Given the description of an element on the screen output the (x, y) to click on. 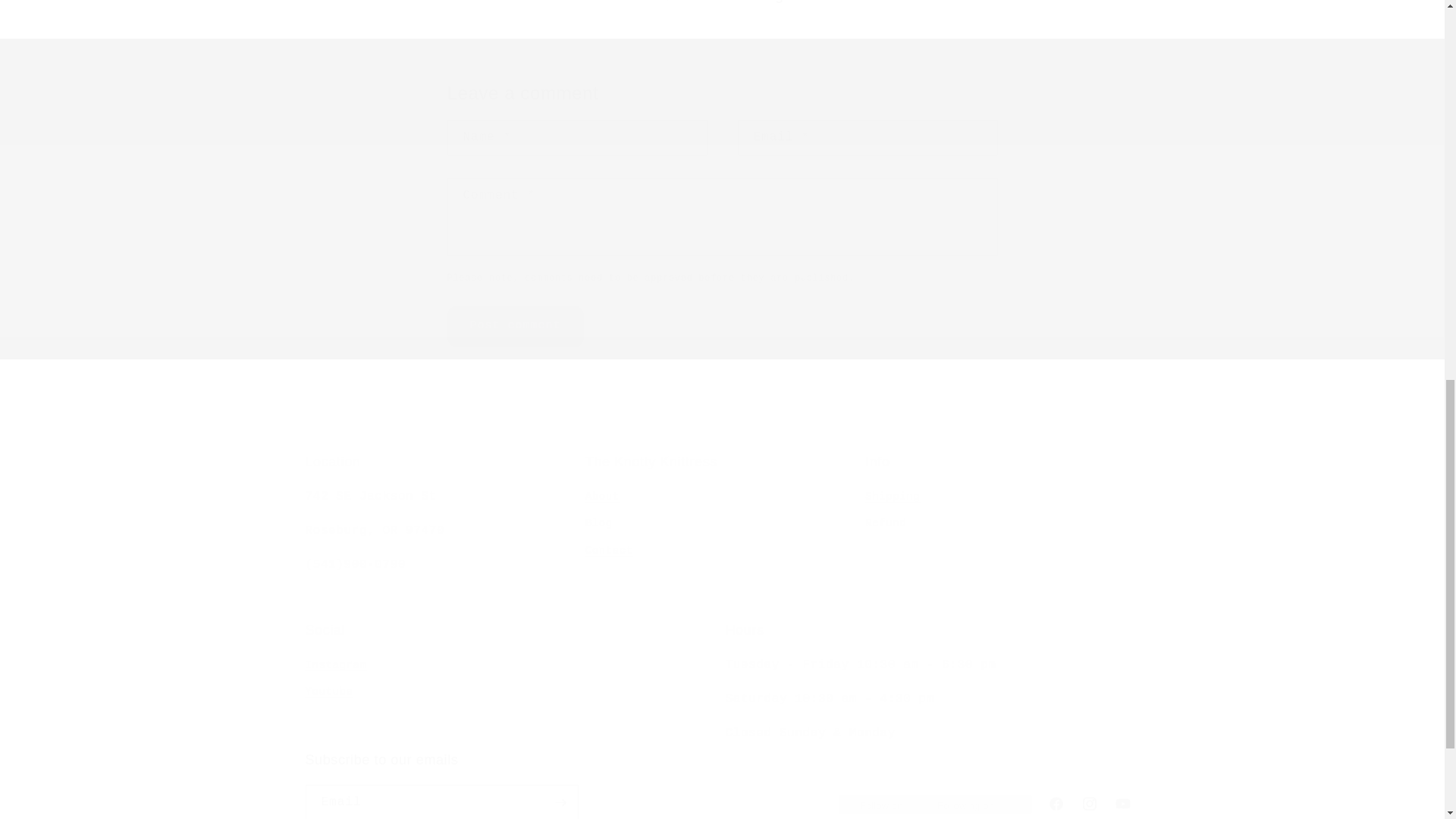
Post comment (1001, 514)
